Given the description of an element on the screen output the (x, y) to click on. 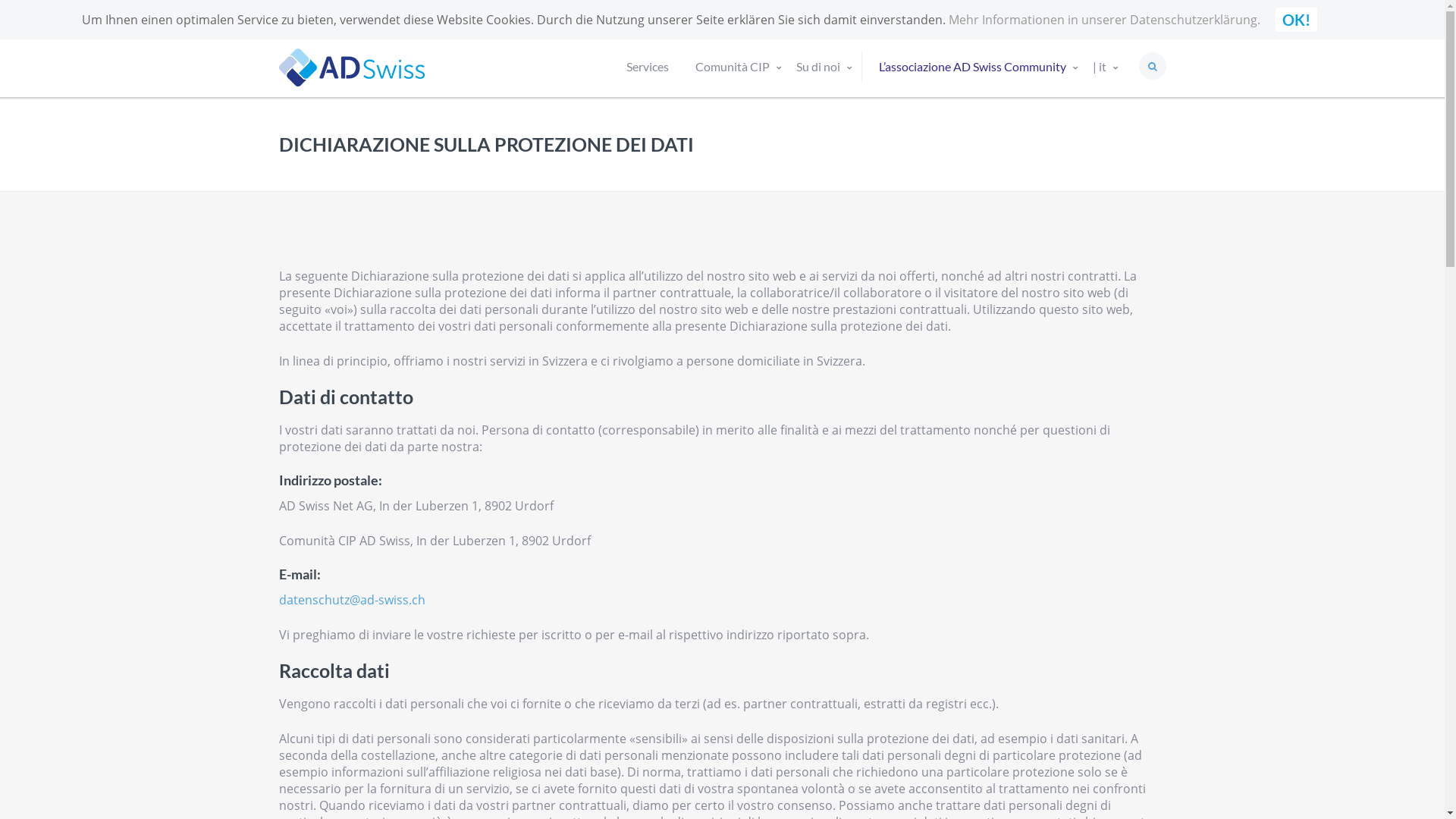
datenschutz@ad-swiss.ch Element type: text (352, 599)
Su di noi Element type: text (825, 74)
| it Element type: text (1107, 74)
OK! Element type: text (1296, 19)
Services Element type: text (654, 74)
